Given the description of an element on the screen output the (x, y) to click on. 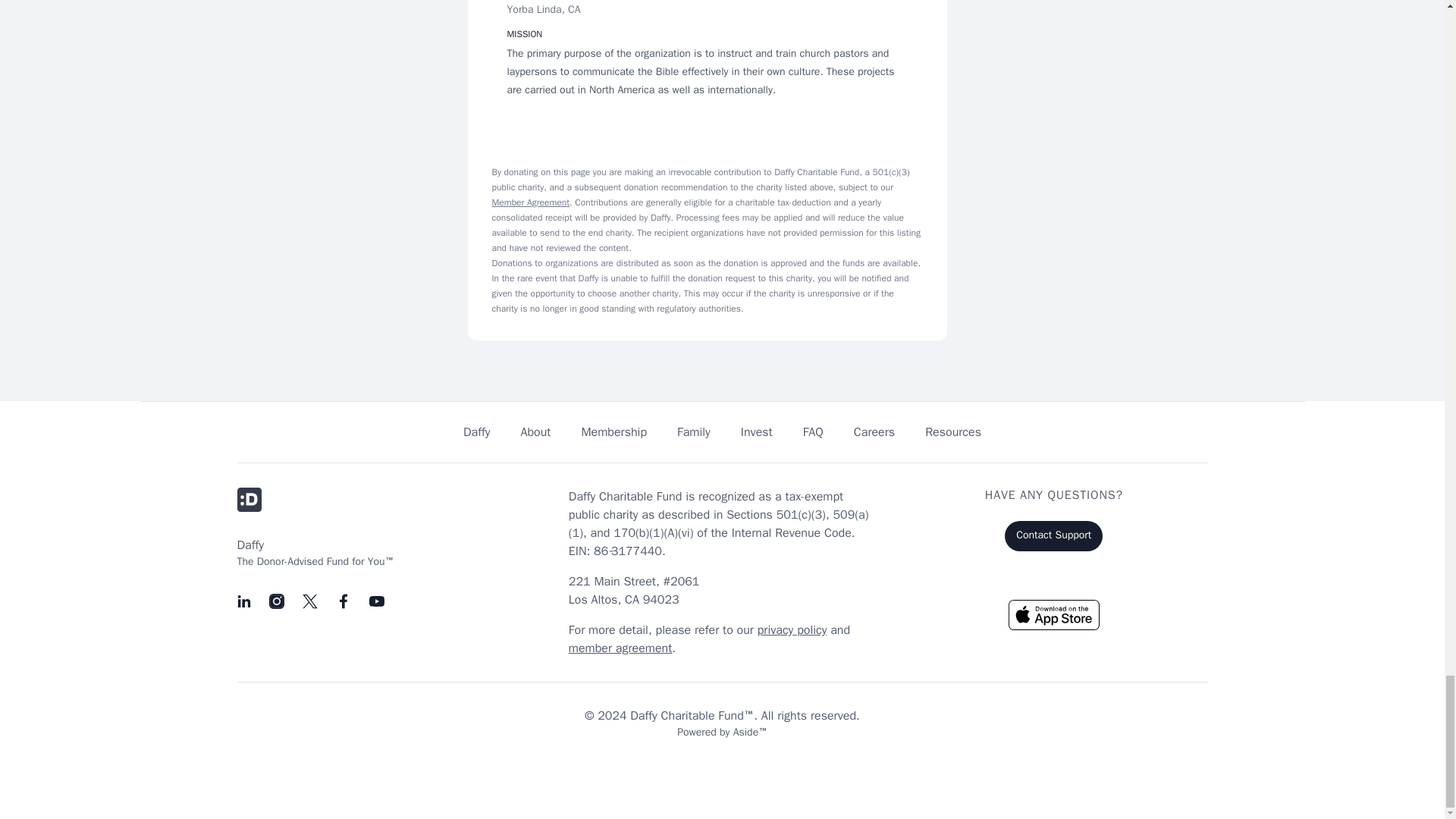
Member Agreement (530, 202)
